Given the description of an element on the screen output the (x, y) to click on. 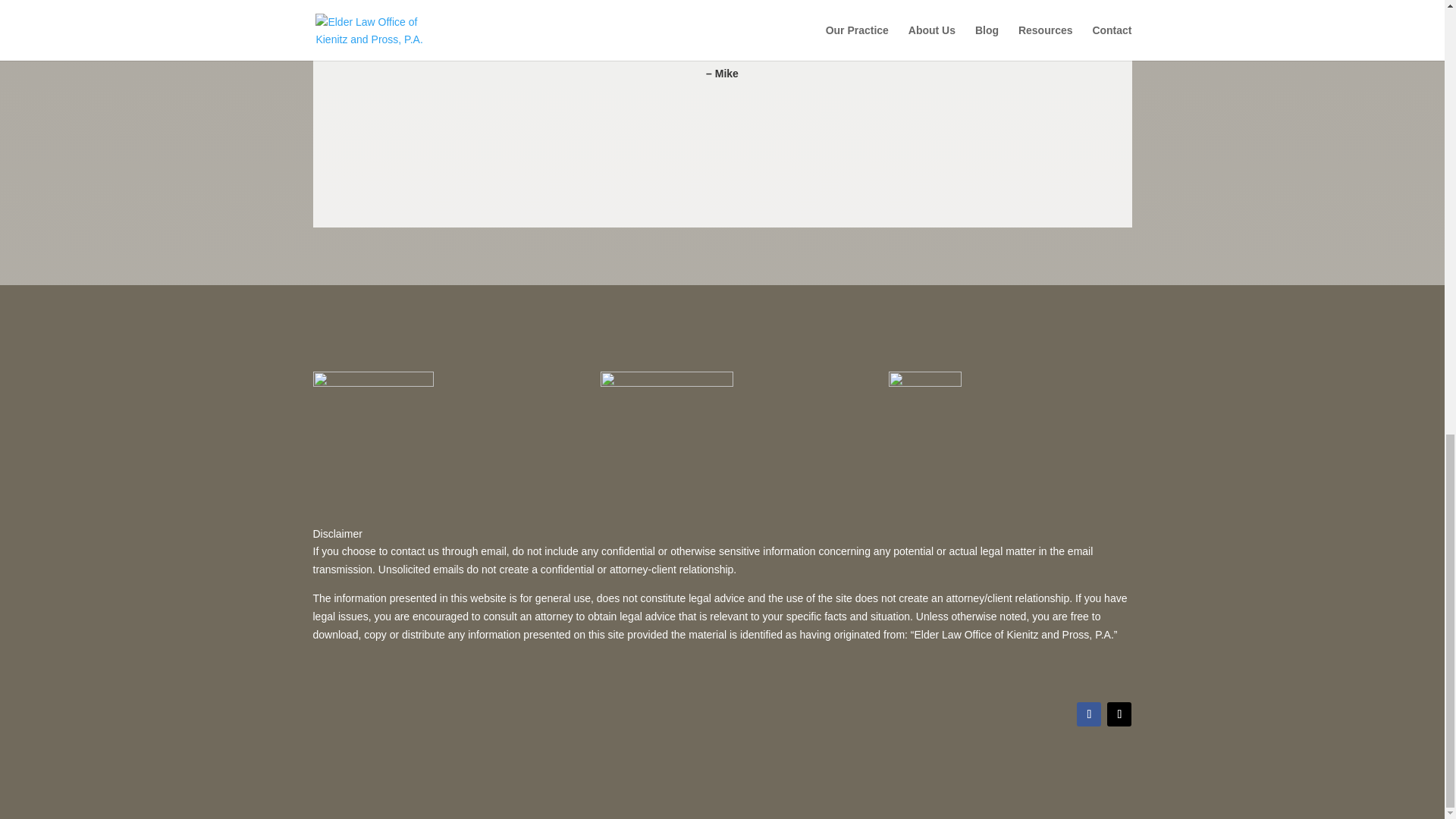
NAELA-black (666, 399)
Follow on Facebook (1088, 713)
superlawyers (372, 392)
Follow on X (1118, 713)
